Given the description of an element on the screen output the (x, y) to click on. 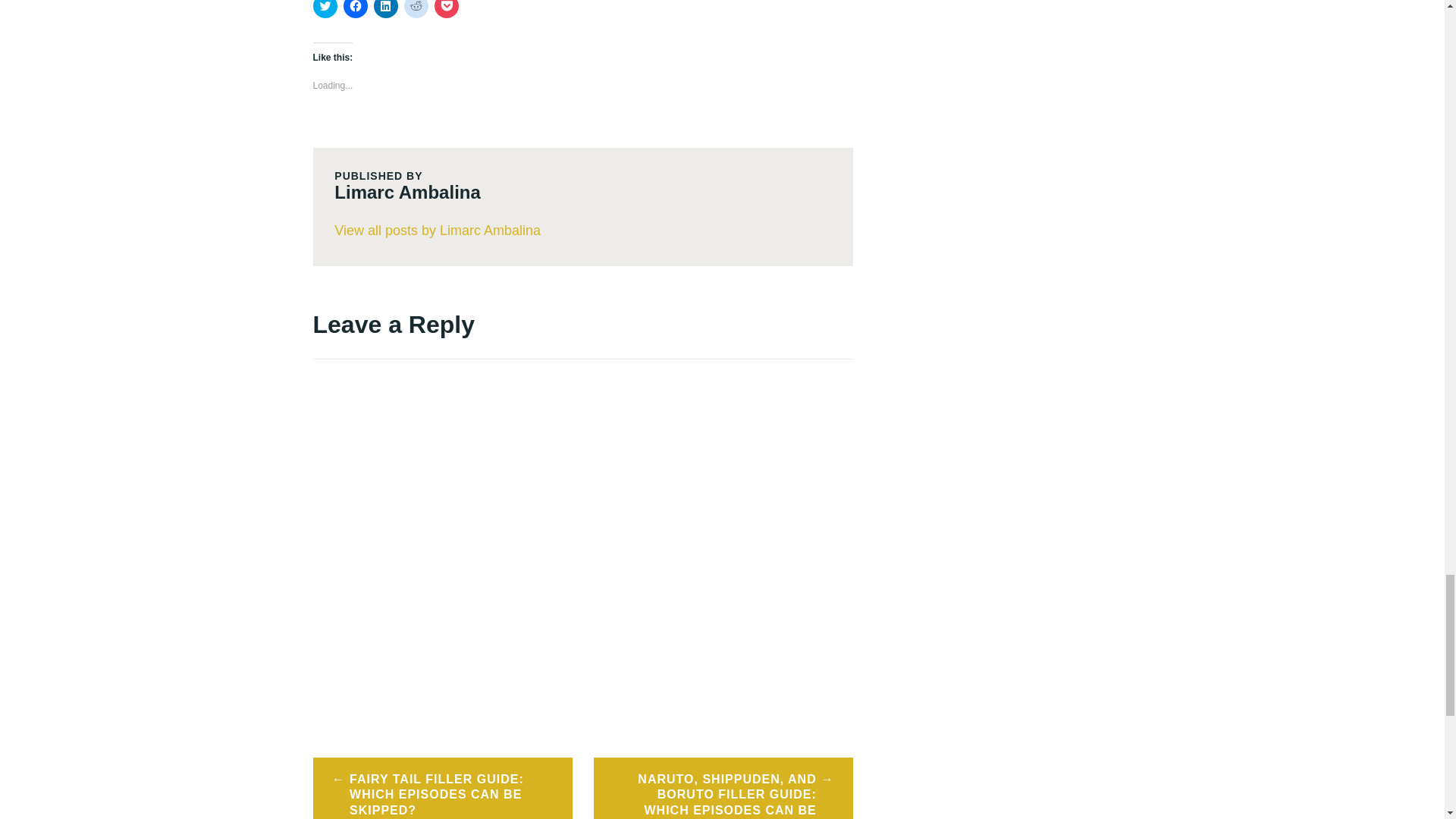
Click to share on LinkedIn (384, 9)
Click to share on Reddit (415, 9)
Click to share on Twitter (324, 9)
Click to share on Facebook (354, 9)
View all posts by Limarc Ambalina (582, 231)
Click to share on Pocket (445, 9)
